Given the description of an element on the screen output the (x, y) to click on. 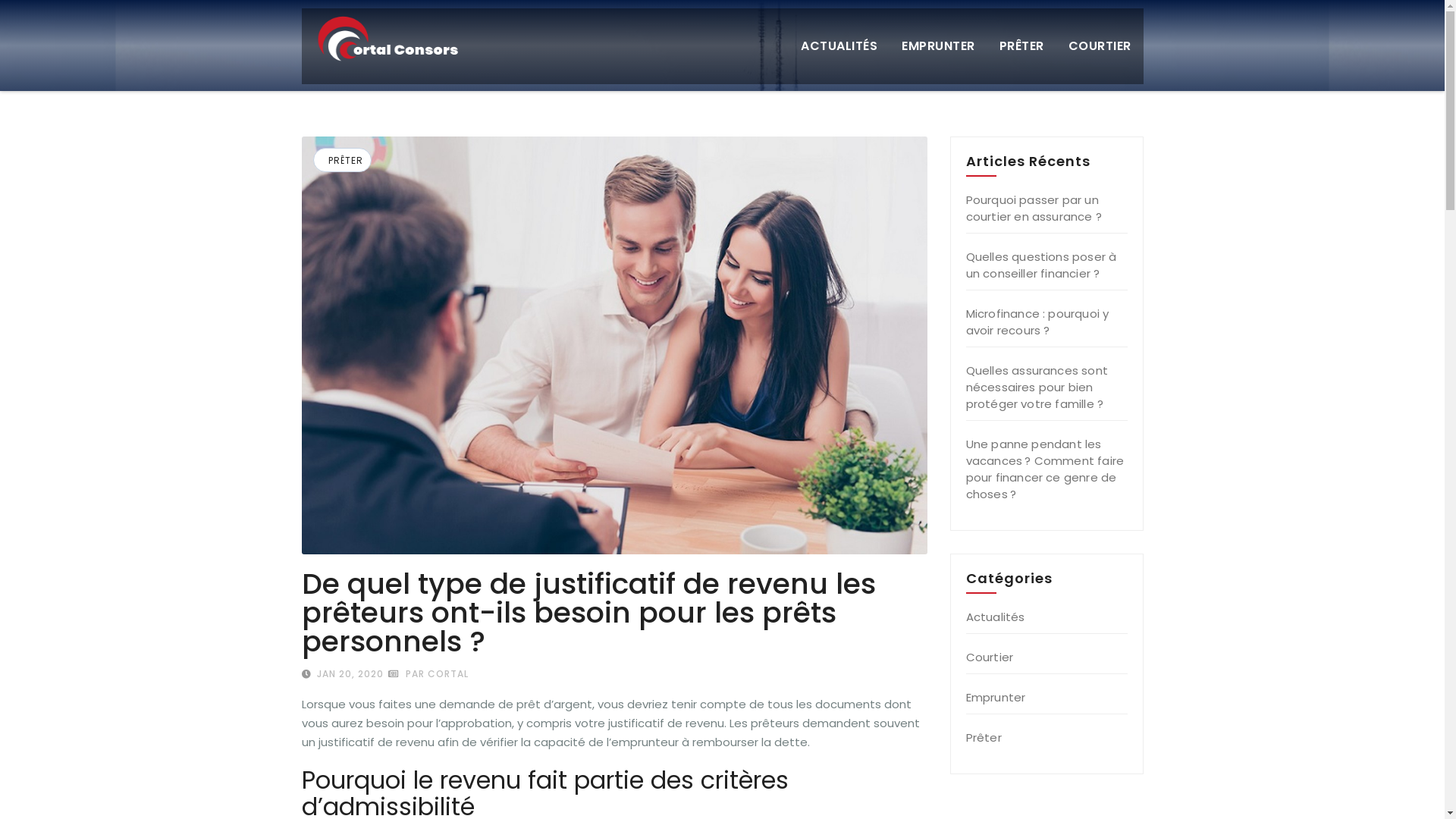
COURTIER Element type: text (1098, 46)
Emprunter Element type: text (996, 697)
Pourquoi passer par un courtier en assurance ?  Element type: text (1035, 207)
PAR CORTAL Element type: text (428, 673)
Microfinance : pourquoi y avoir recours ? Element type: text (1037, 321)
EMPRUNTER Element type: text (938, 46)
Courtier Element type: text (989, 657)
JAN 20, 2020 Element type: text (348, 673)
